Given the description of an element on the screen output the (x, y) to click on. 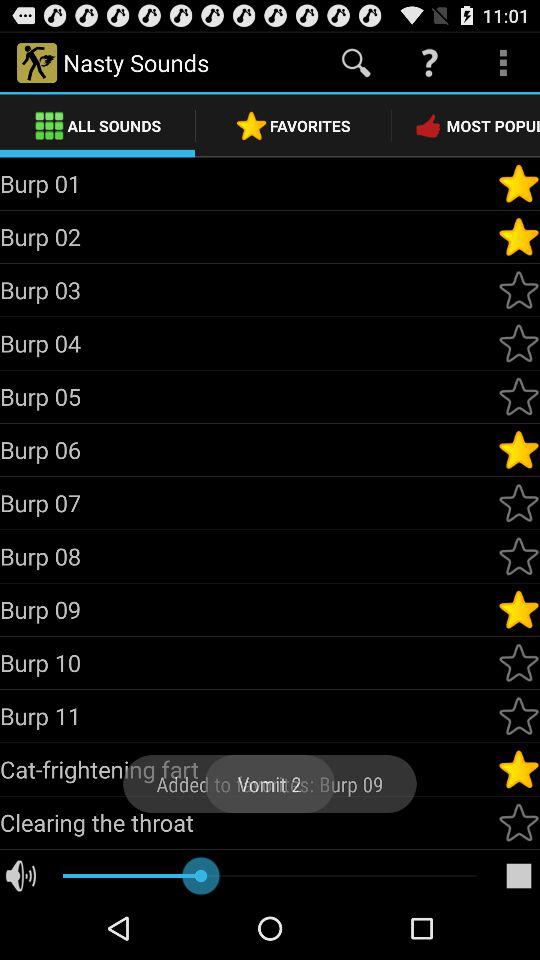
very popular sound (519, 609)
